Given the description of an element on the screen output the (x, y) to click on. 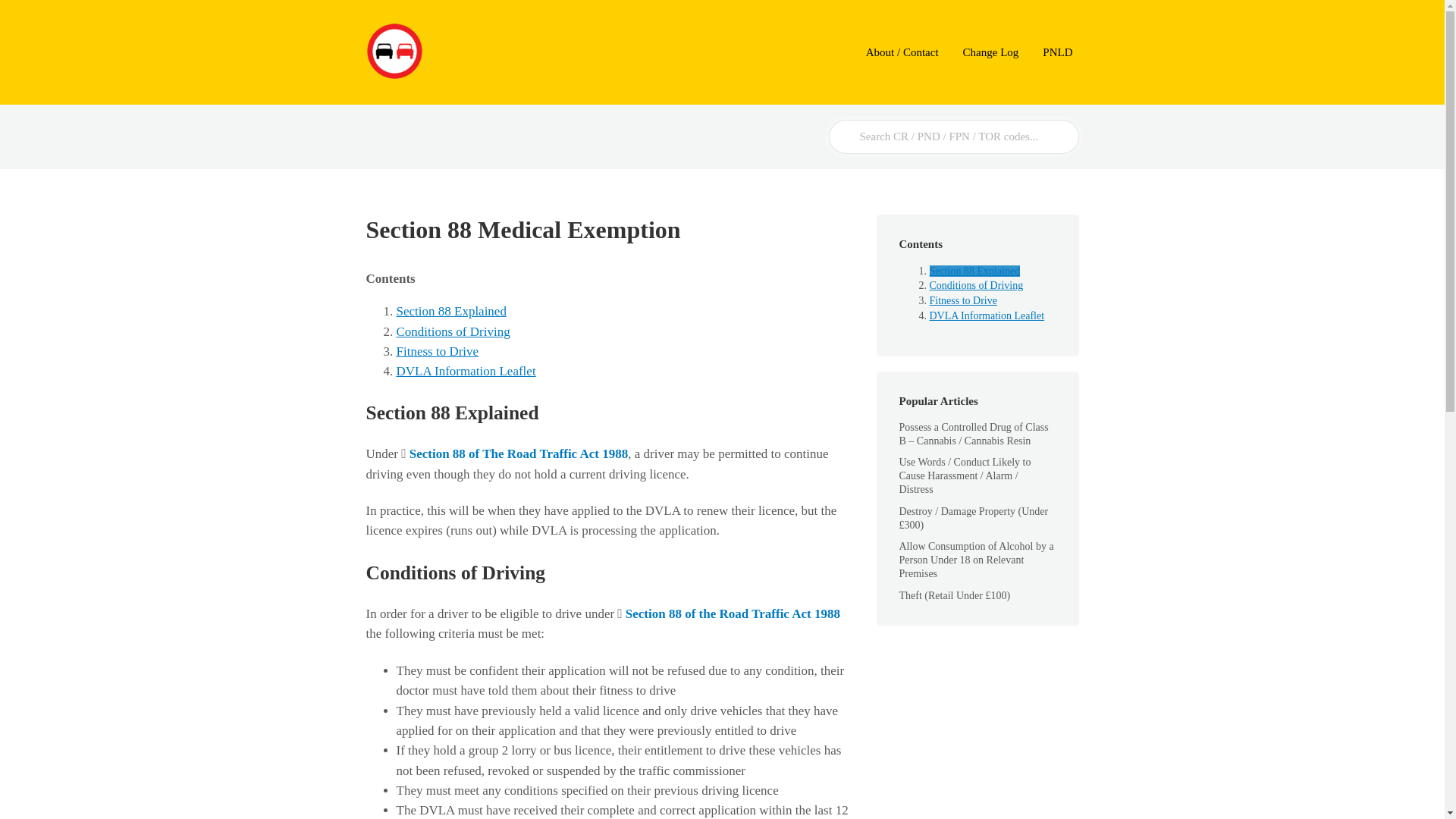
Conditions of Driving (452, 331)
PNLD (1057, 52)
Fitness to Drive (437, 350)
Section 88 Explained (450, 310)
Section 88 of The Road Traffic Act 1988 (518, 453)
Conditions of Driving (976, 285)
Fitness to Drive (963, 300)
Section 88 Explained (975, 270)
DVLA Information Leaflet (465, 370)
DVLA Information Leaflet (987, 315)
Change Log (990, 52)
Section 88 of the Road Traffic Act 1988 (733, 613)
